Given the description of an element on the screen output the (x, y) to click on. 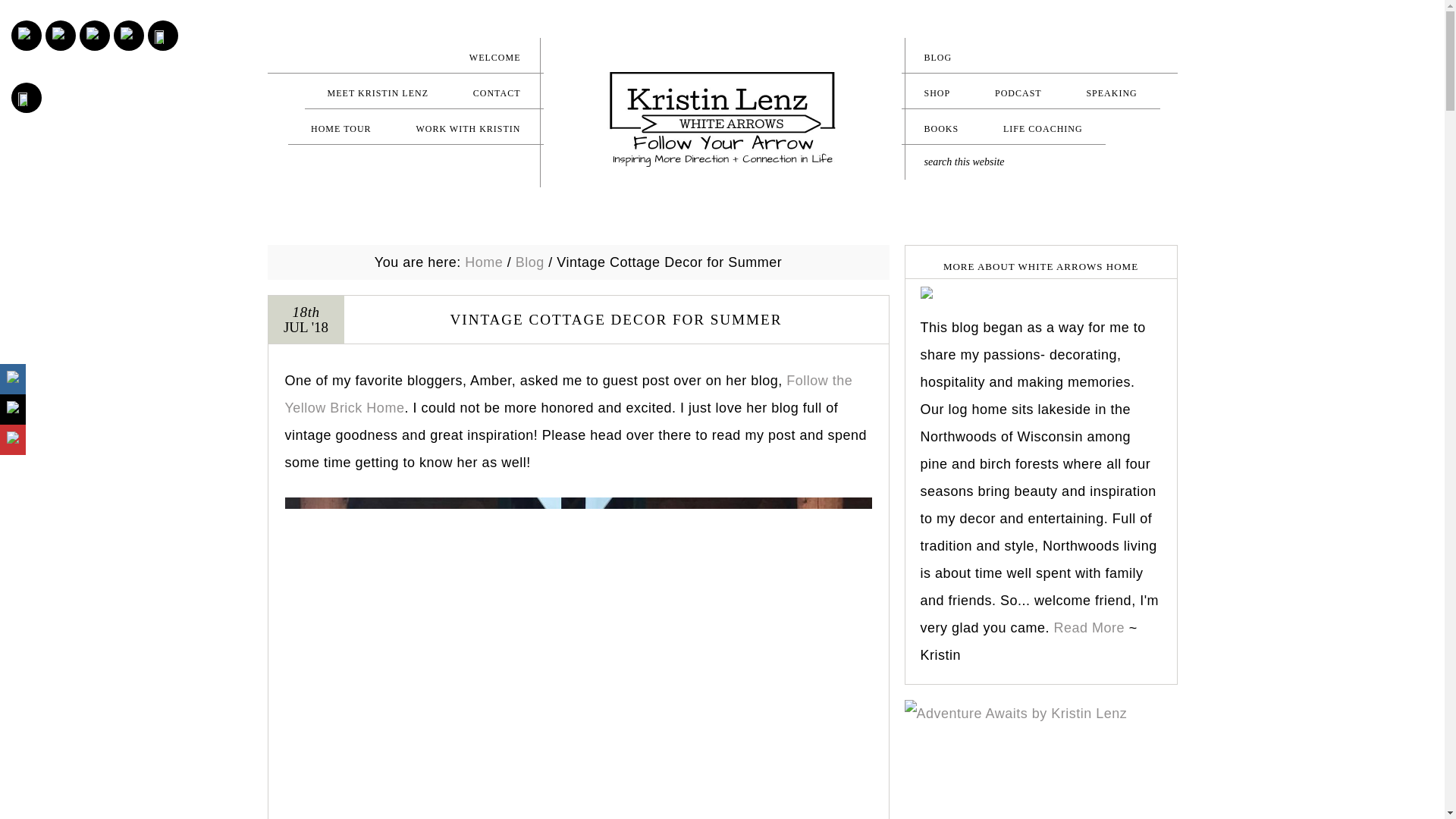
SHOP (936, 93)
HOME TOUR (341, 128)
LIFE COACHING (1042, 128)
SPEAKING (1110, 93)
Follow the Yellow Brick Home (569, 394)
CONTACT (496, 93)
Facebook (94, 35)
BLOG (1038, 56)
Blog (529, 262)
